Given the description of an element on the screen output the (x, y) to click on. 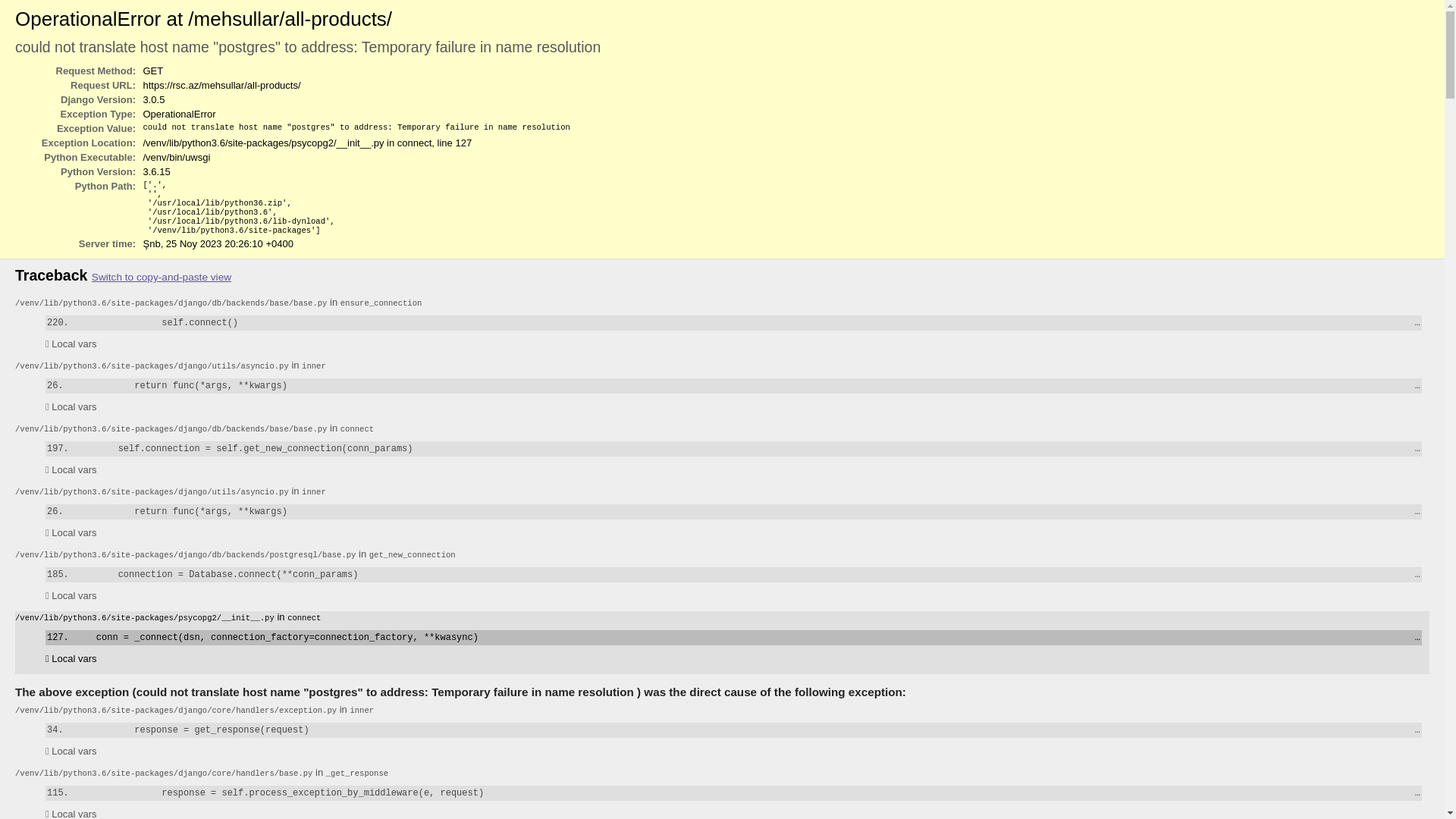
Switch to copy-and-paste view Element type: text (161, 276)
